Given the description of an element on the screen output the (x, y) to click on. 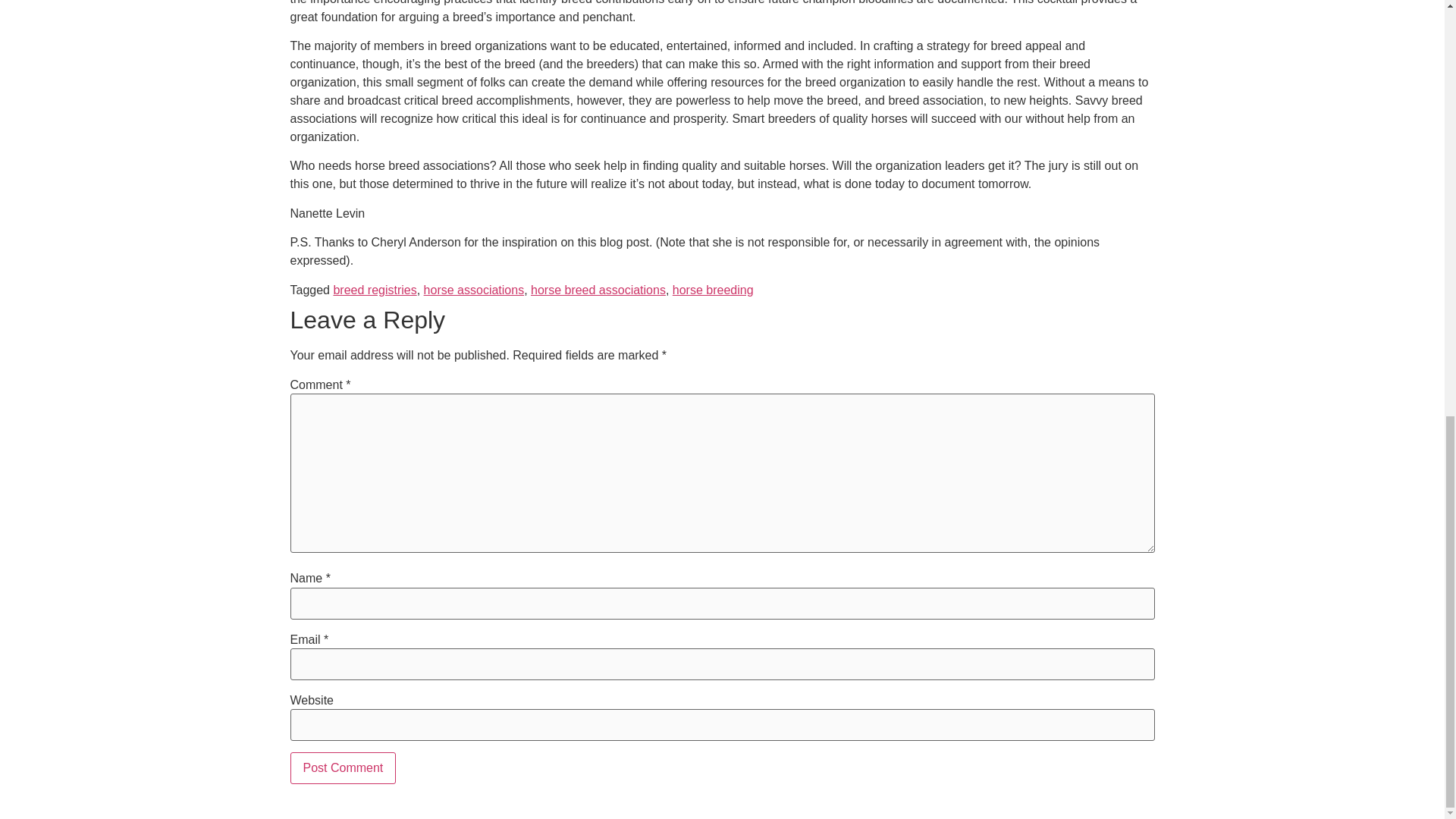
horse associations (473, 289)
breed registries (374, 289)
horse breeding (713, 289)
Post Comment (342, 767)
horse breed associations (598, 289)
Post Comment (342, 767)
